Given the description of an element on the screen output the (x, y) to click on. 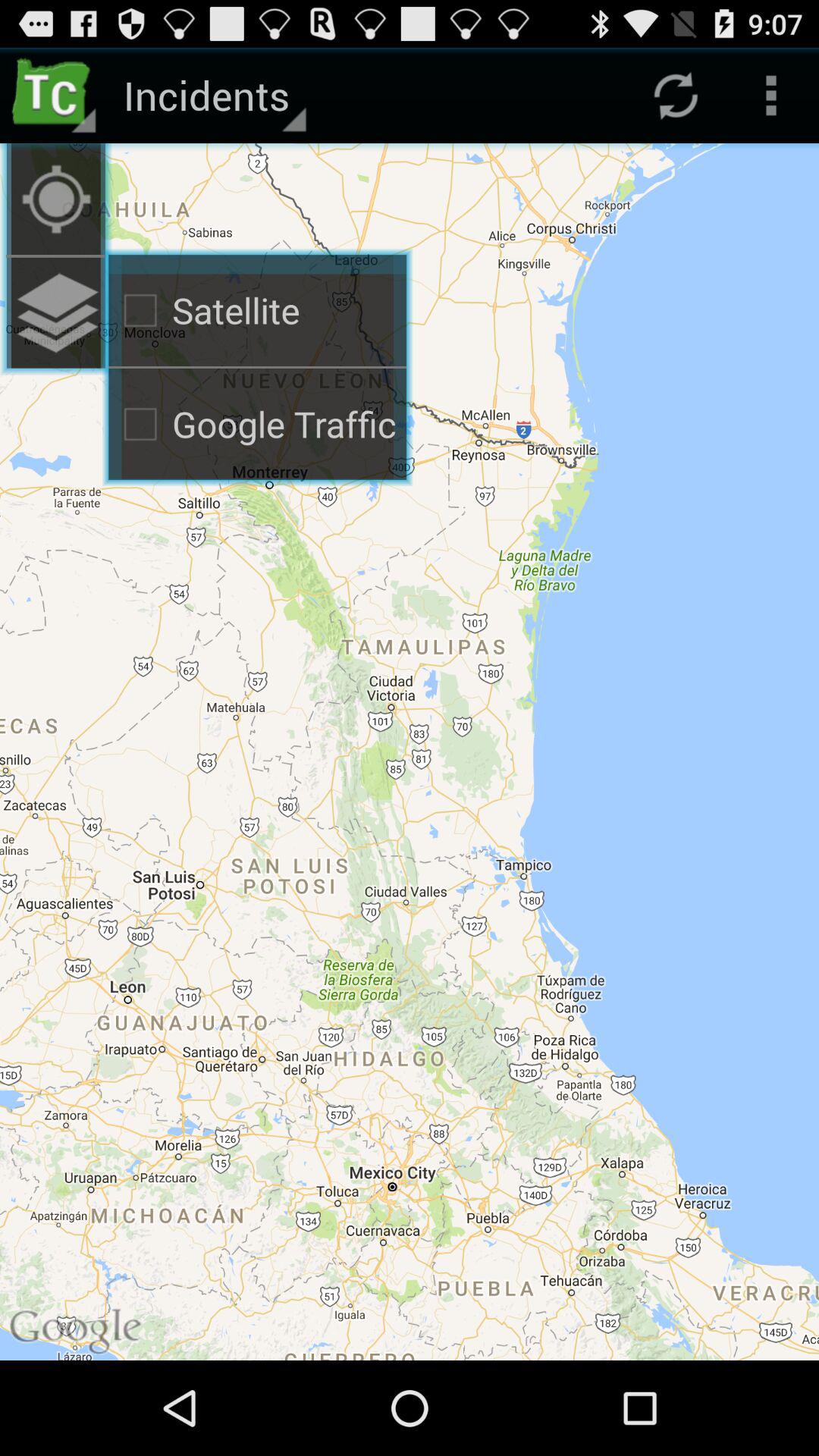
press item at the center (409, 751)
